Given the description of an element on the screen output the (x, y) to click on. 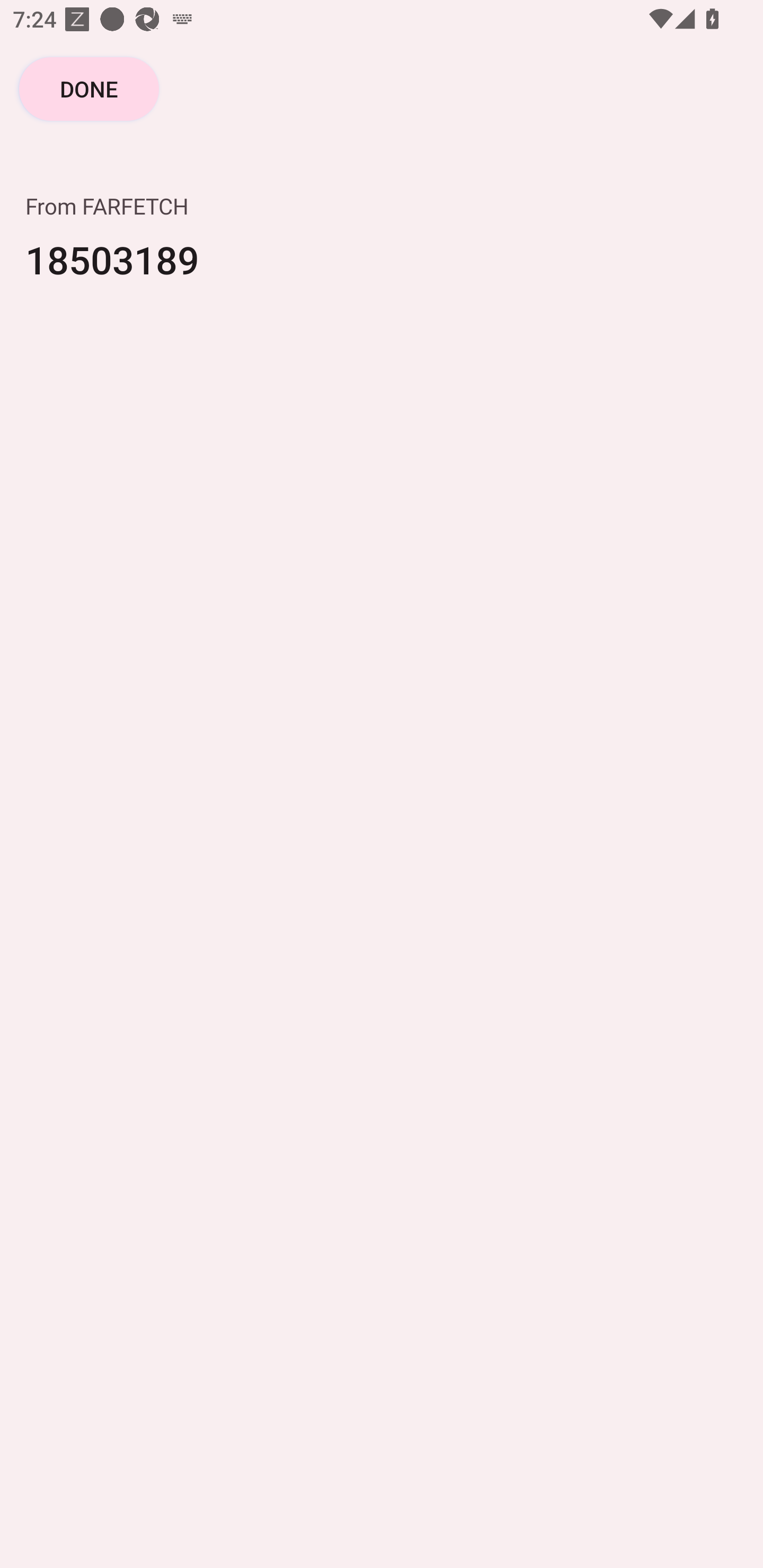
DONE (88, 88)
18503189 (381, 271)
